Given the description of an element on the screen output the (x, y) to click on. 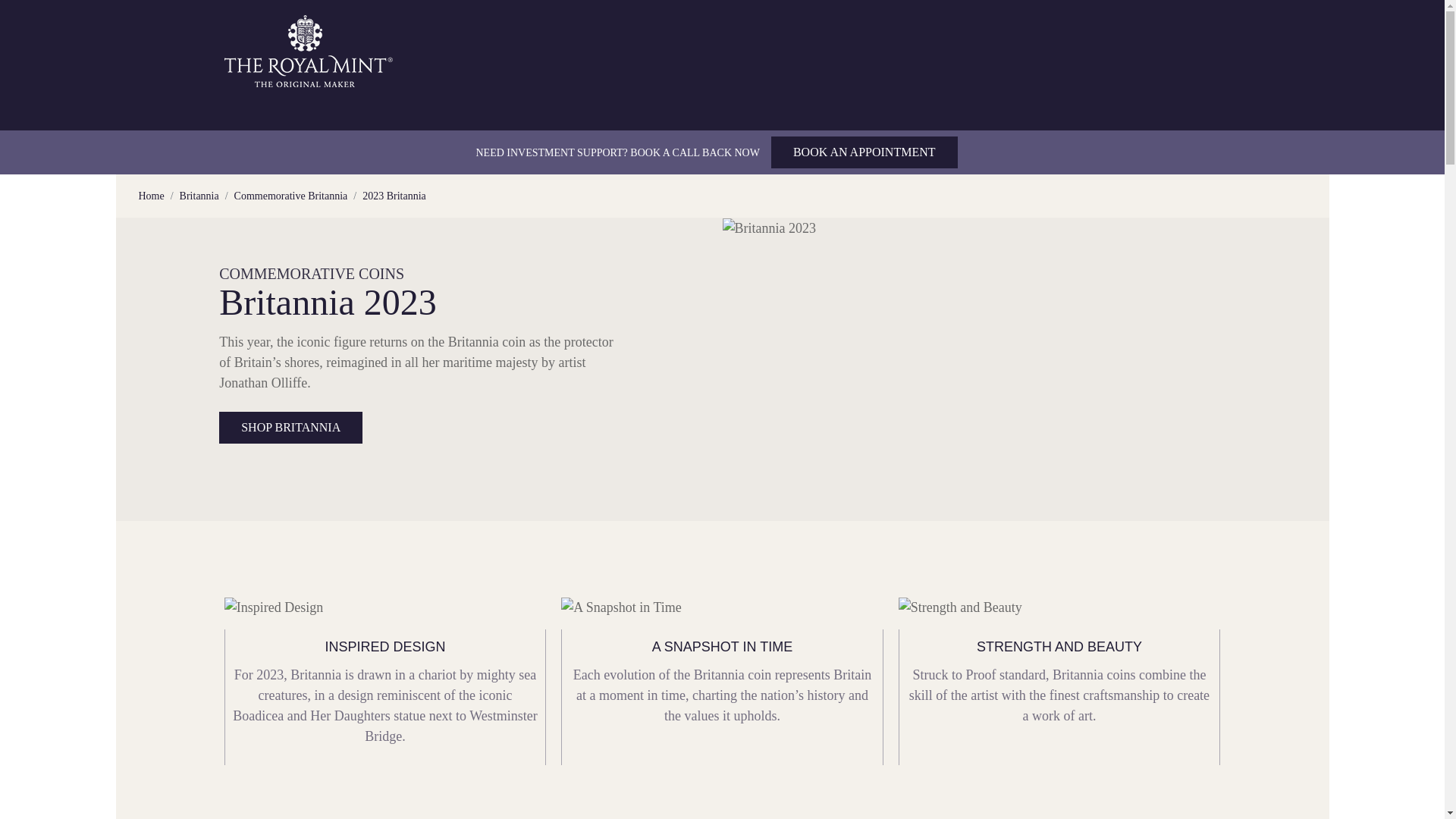
Commemorative Britannia (290, 195)
Inspired Design (273, 607)
Home (150, 195)
Strength and Beauty (960, 607)
The Royal Mint (309, 50)
Britannia 2023 (768, 228)
SHOP BRITANNIA (290, 427)
A Snapshot in Time (620, 607)
The Royal Mint - Copyright (309, 49)
Britannia (199, 195)
